Given the description of an element on the screen output the (x, y) to click on. 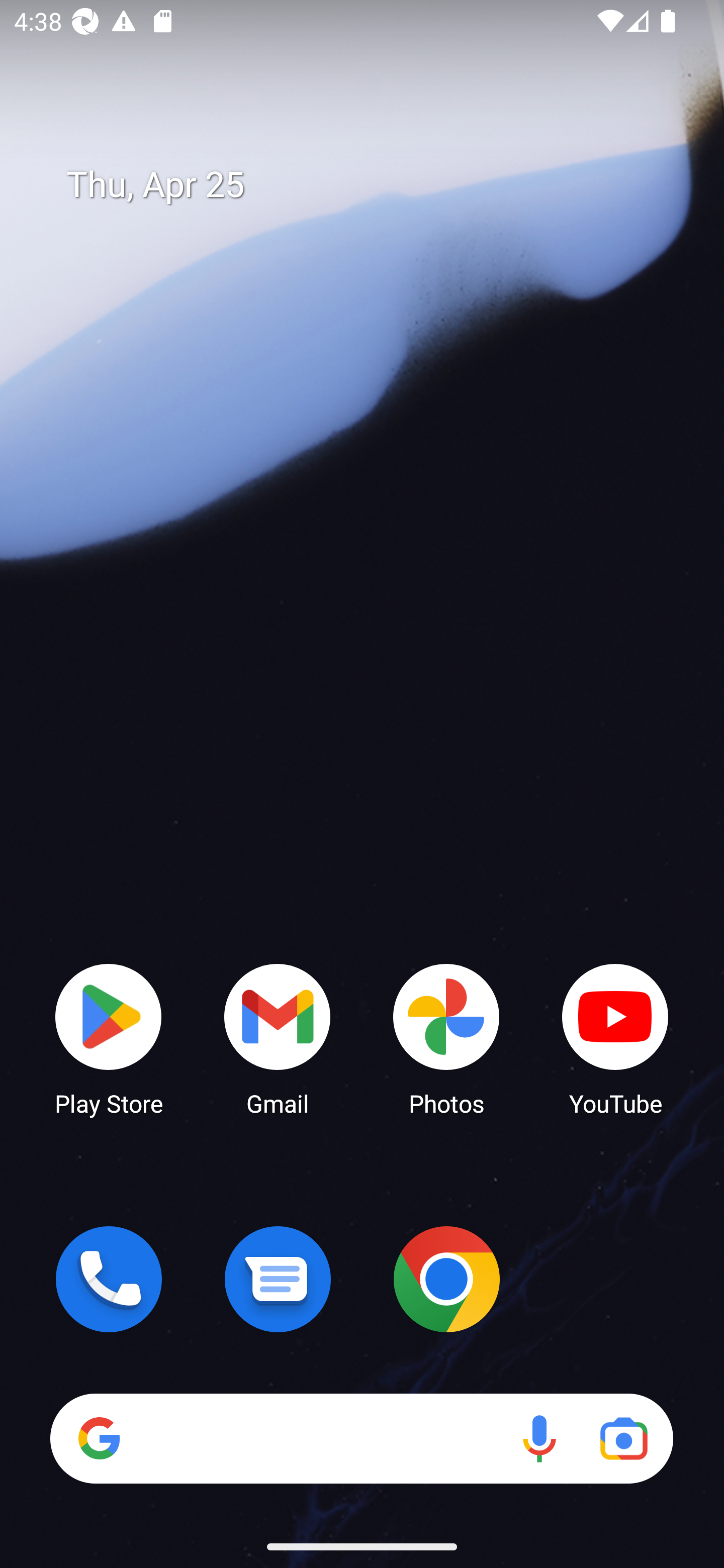
Thu, Apr 25 (375, 184)
Play Store (108, 1038)
Gmail (277, 1038)
Photos (445, 1038)
YouTube (615, 1038)
Phone (108, 1279)
Messages (277, 1279)
Chrome (446, 1279)
Search Voice search Google Lens (361, 1438)
Voice search (539, 1438)
Google Lens (623, 1438)
